Given the description of an element on the screen output the (x, y) to click on. 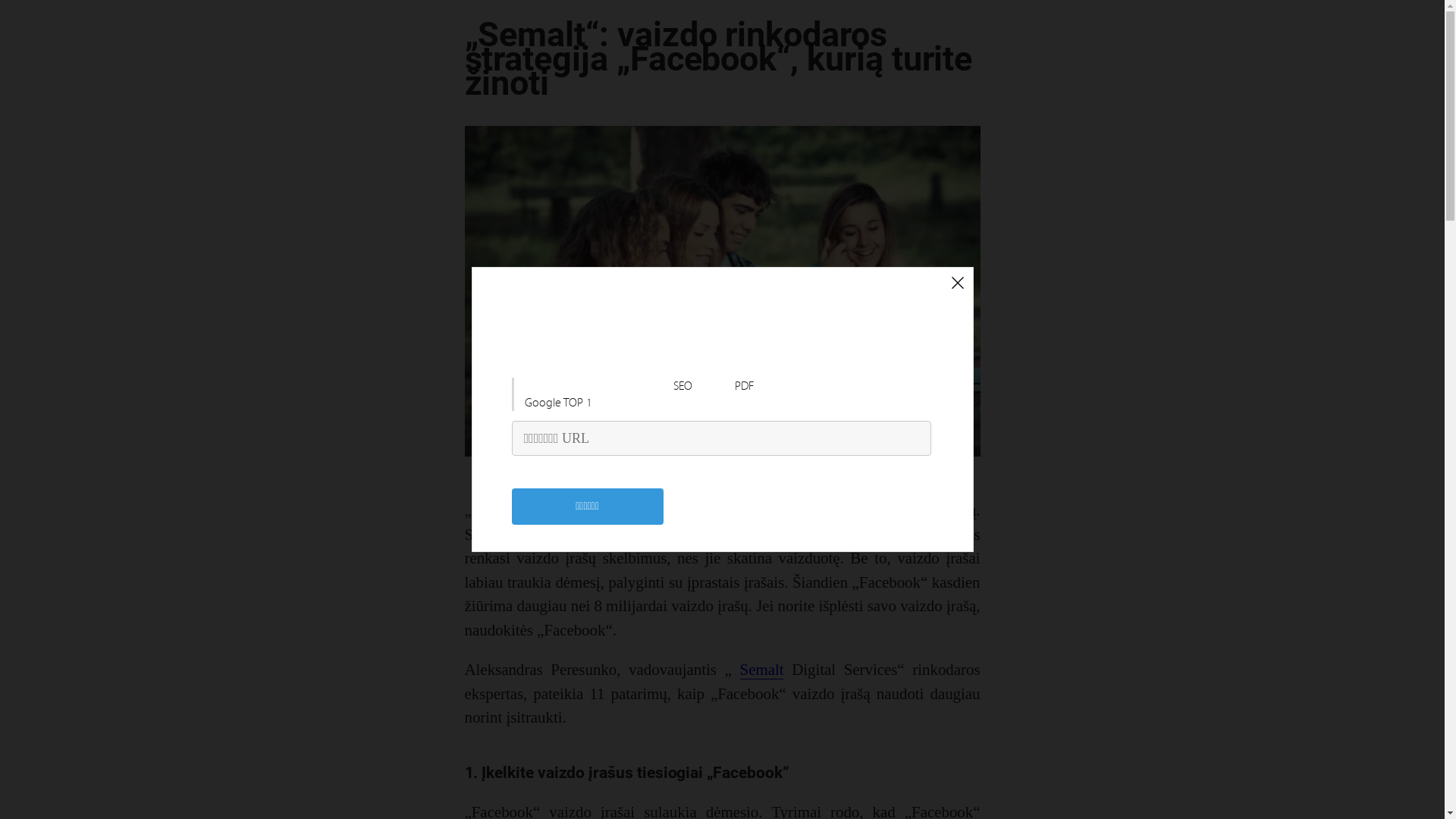
Semalt Element type: text (762, 669)
